Given the description of an element on the screen output the (x, y) to click on. 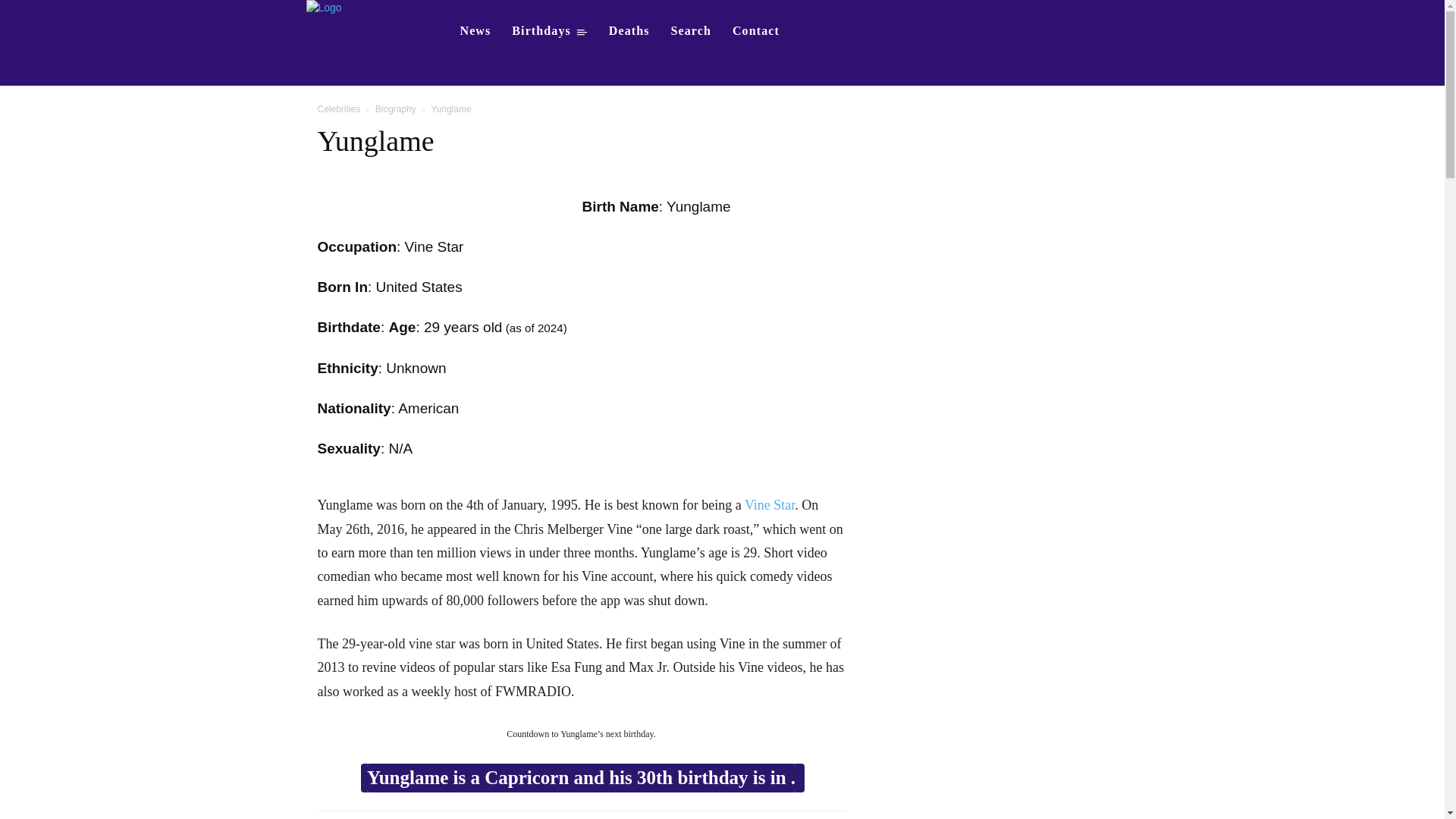
Deaths (629, 31)
Contact (756, 31)
Vine Star (769, 504)
Celebrities (338, 109)
Search (691, 31)
Who is dating who (354, 21)
Biography (395, 109)
Birthdays (548, 31)
Celebs News (474, 31)
News (474, 31)
